Given the description of an element on the screen output the (x, y) to click on. 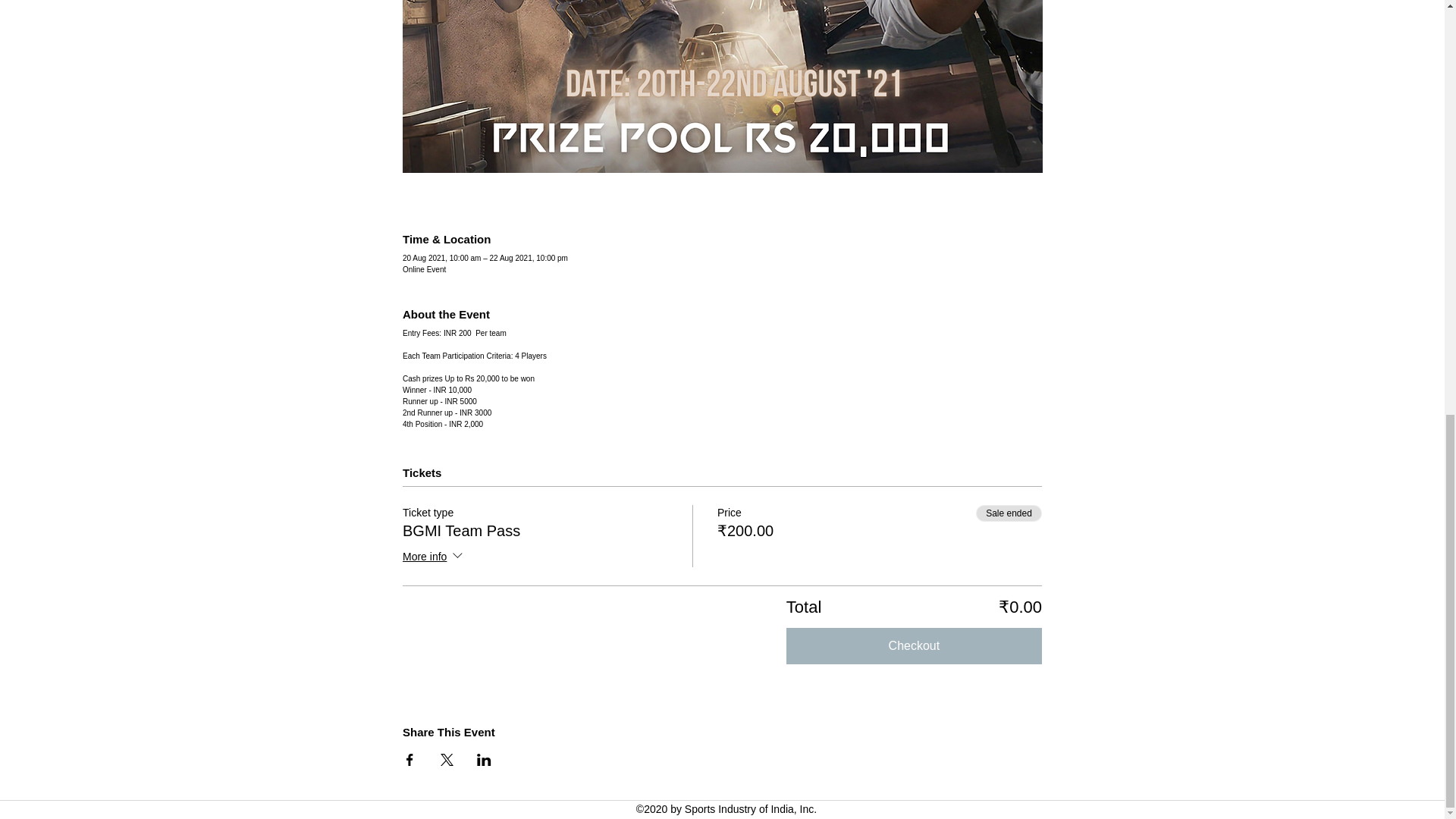
Checkout (914, 646)
More info (434, 557)
